Given the description of an element on the screen output the (x, y) to click on. 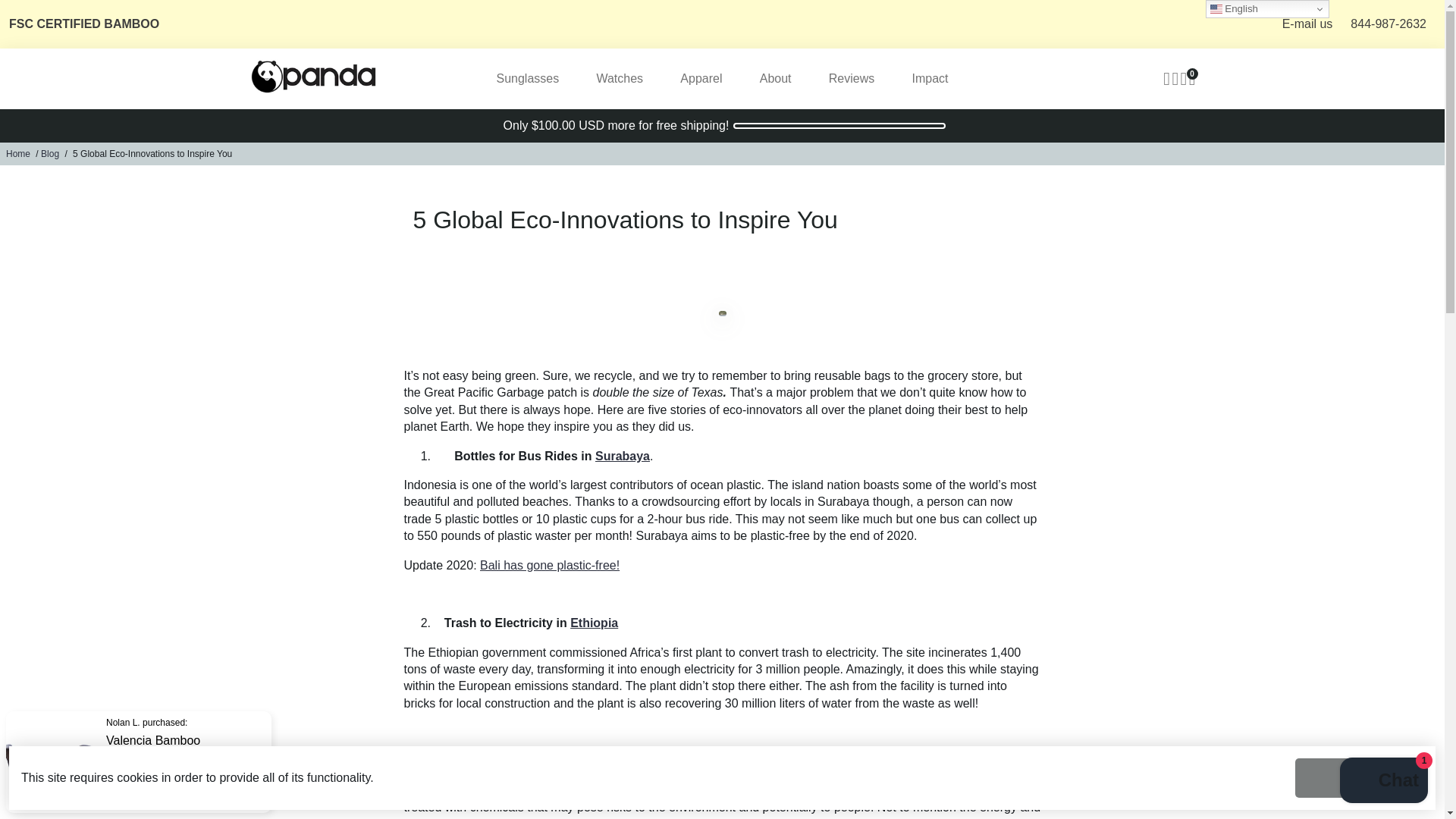
Home (17, 153)
Blog (49, 153)
Apparel (700, 78)
844-987-2632 (1388, 23)
E-mail us (1307, 23)
Surabaya (622, 455)
Sunglasses (526, 78)
Impact (929, 78)
bali goes plastic free (550, 564)
Ethiopia (593, 622)
Edmonton all natural swimming pool (591, 761)
0 (1192, 78)
Bali has gone plastic-free! (550, 564)
link to trendwatching environmental win (622, 455)
trendwatching environmental success in Ethiopia (593, 622)
